Given the description of an element on the screen output the (x, y) to click on. 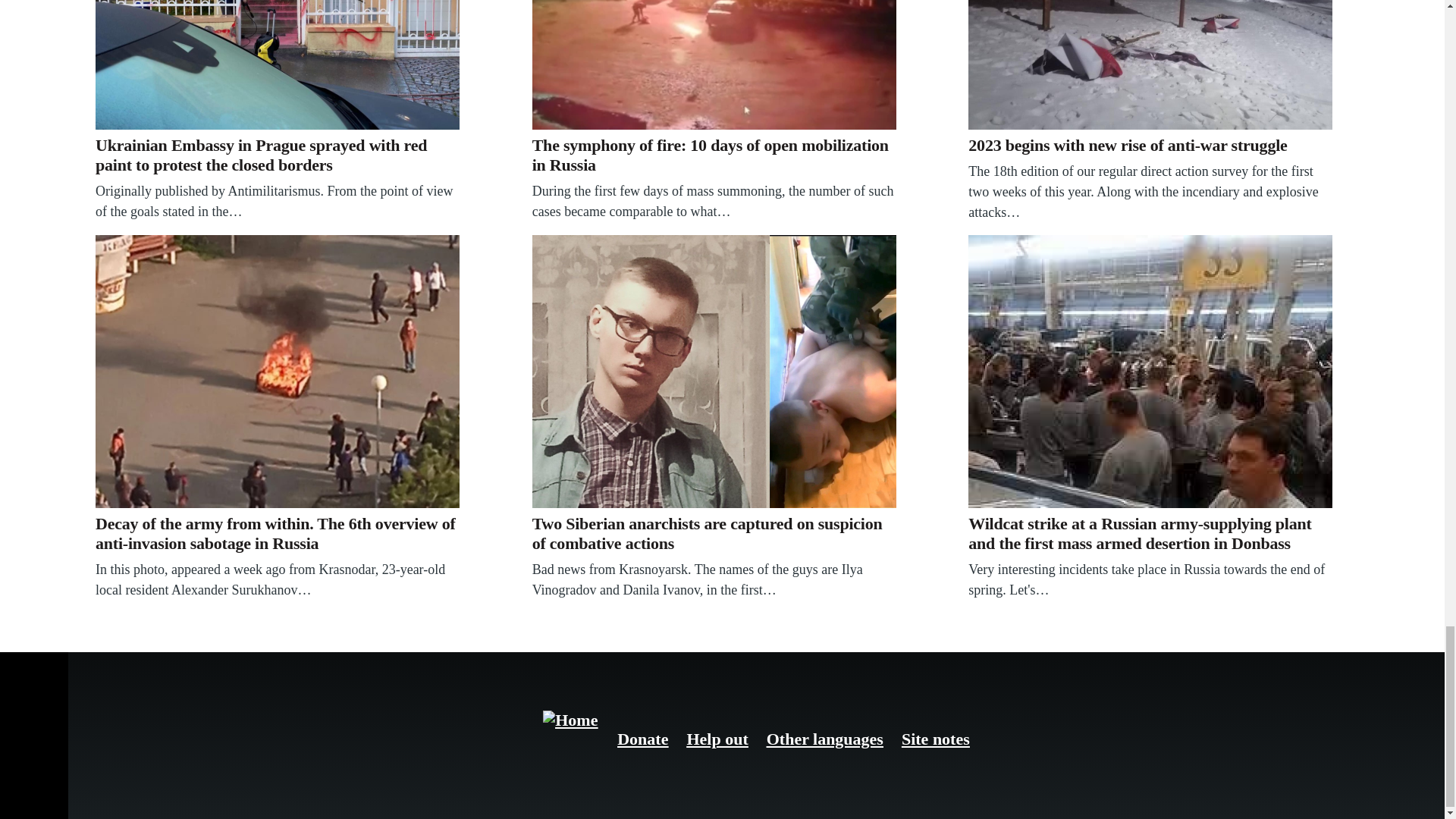
libcom content in languages other than English (825, 738)
